Given the description of an element on the screen output the (x, y) to click on. 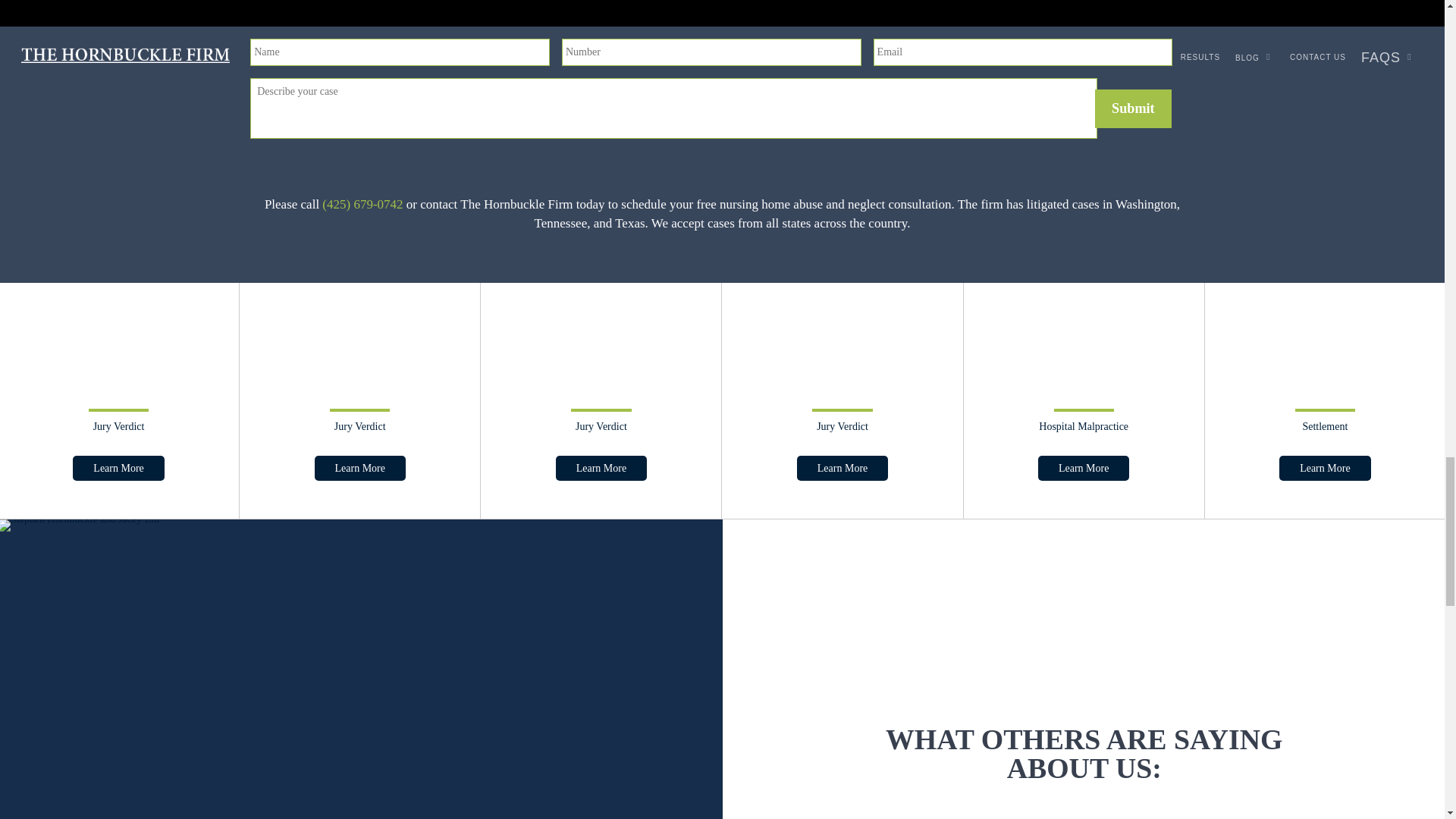
Submit (1133, 108)
